Given the description of an element on the screen output the (x, y) to click on. 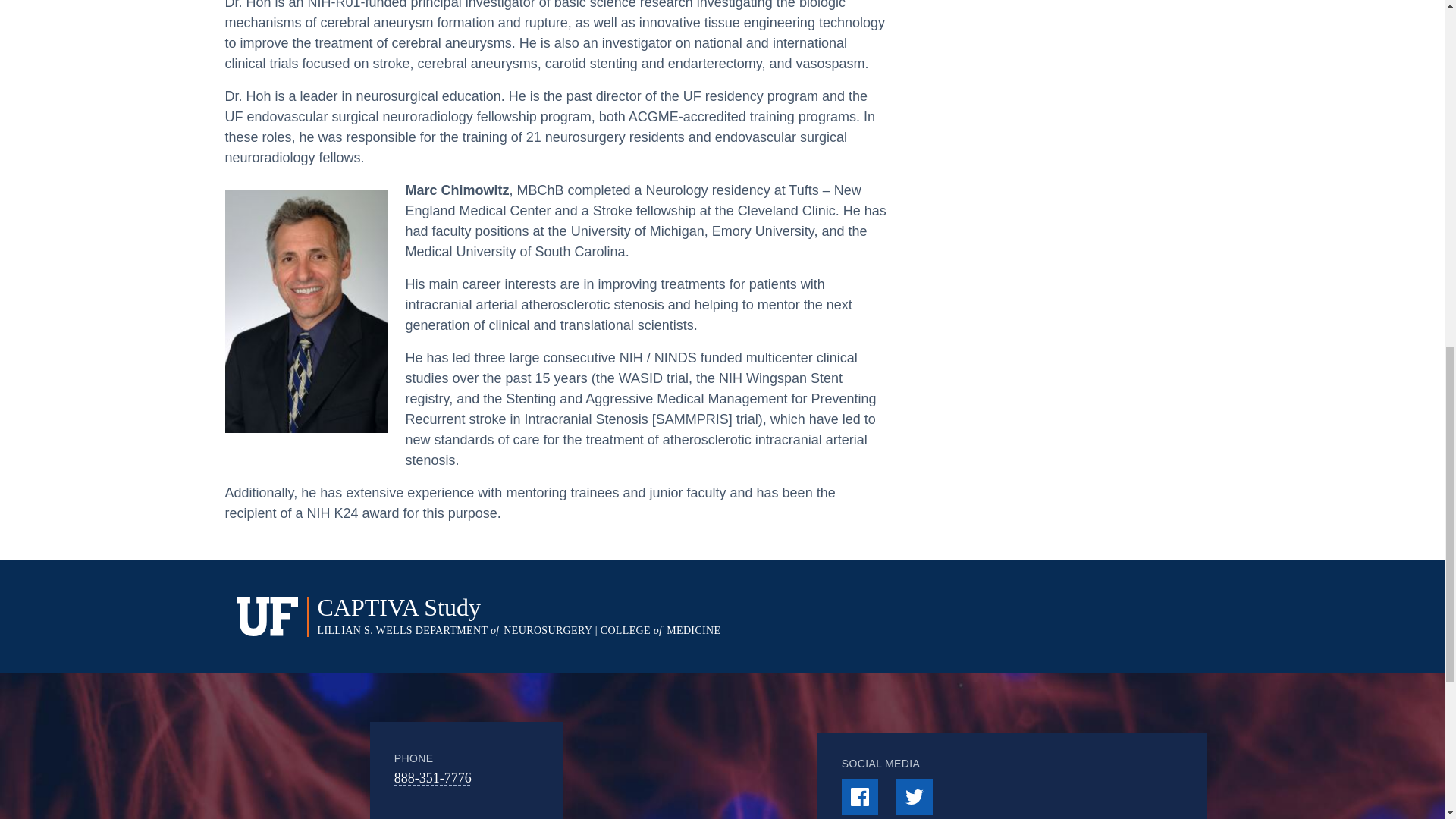
888-351-7776 (432, 777)
Twitter (914, 796)
888-351-7776 (432, 777)
Facebook (859, 796)
